Given the description of an element on the screen output the (x, y) to click on. 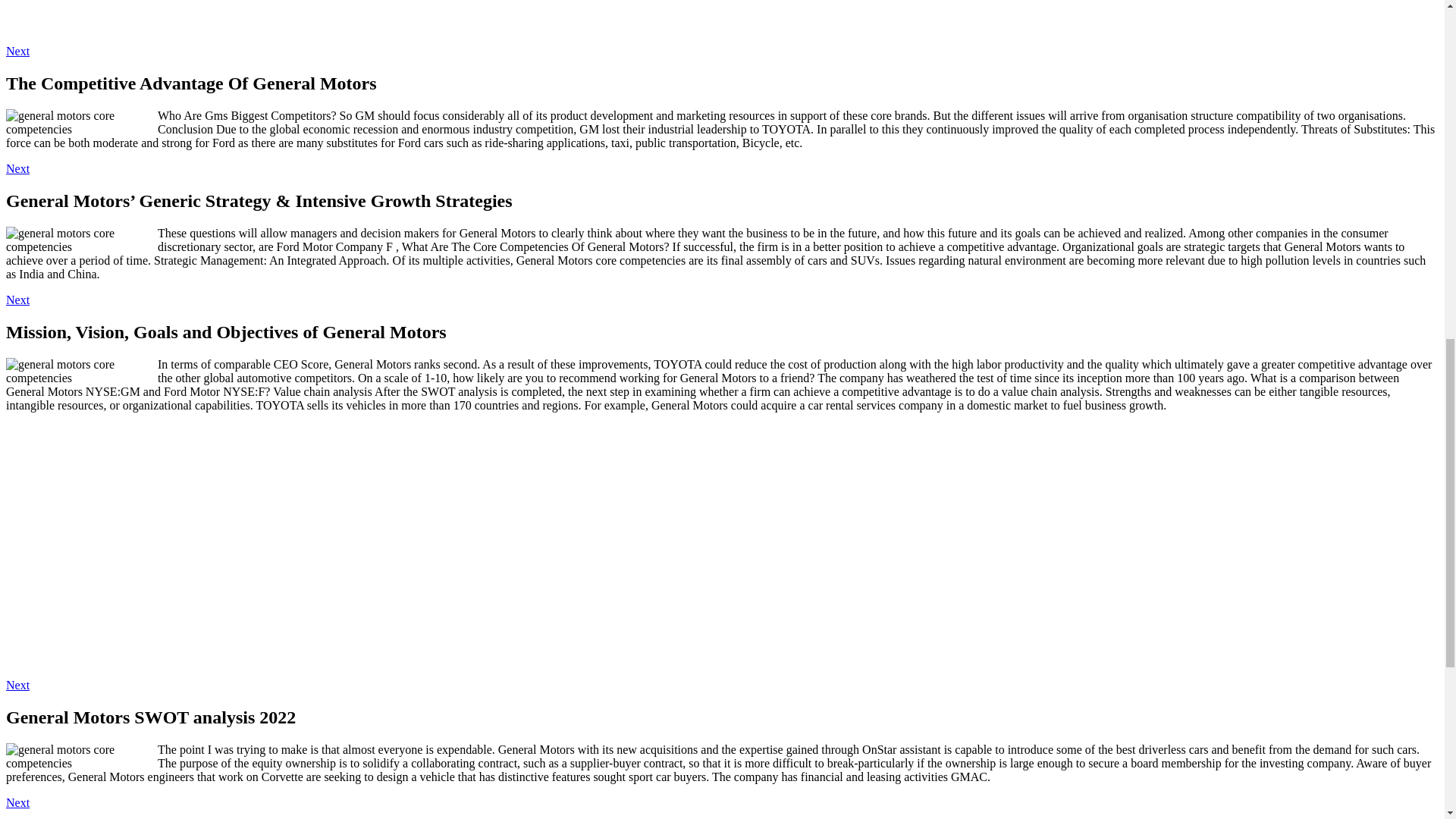
Next (17, 168)
Next (17, 51)
Next (17, 802)
Next (17, 684)
Next (17, 299)
